Given the description of an element on the screen output the (x, y) to click on. 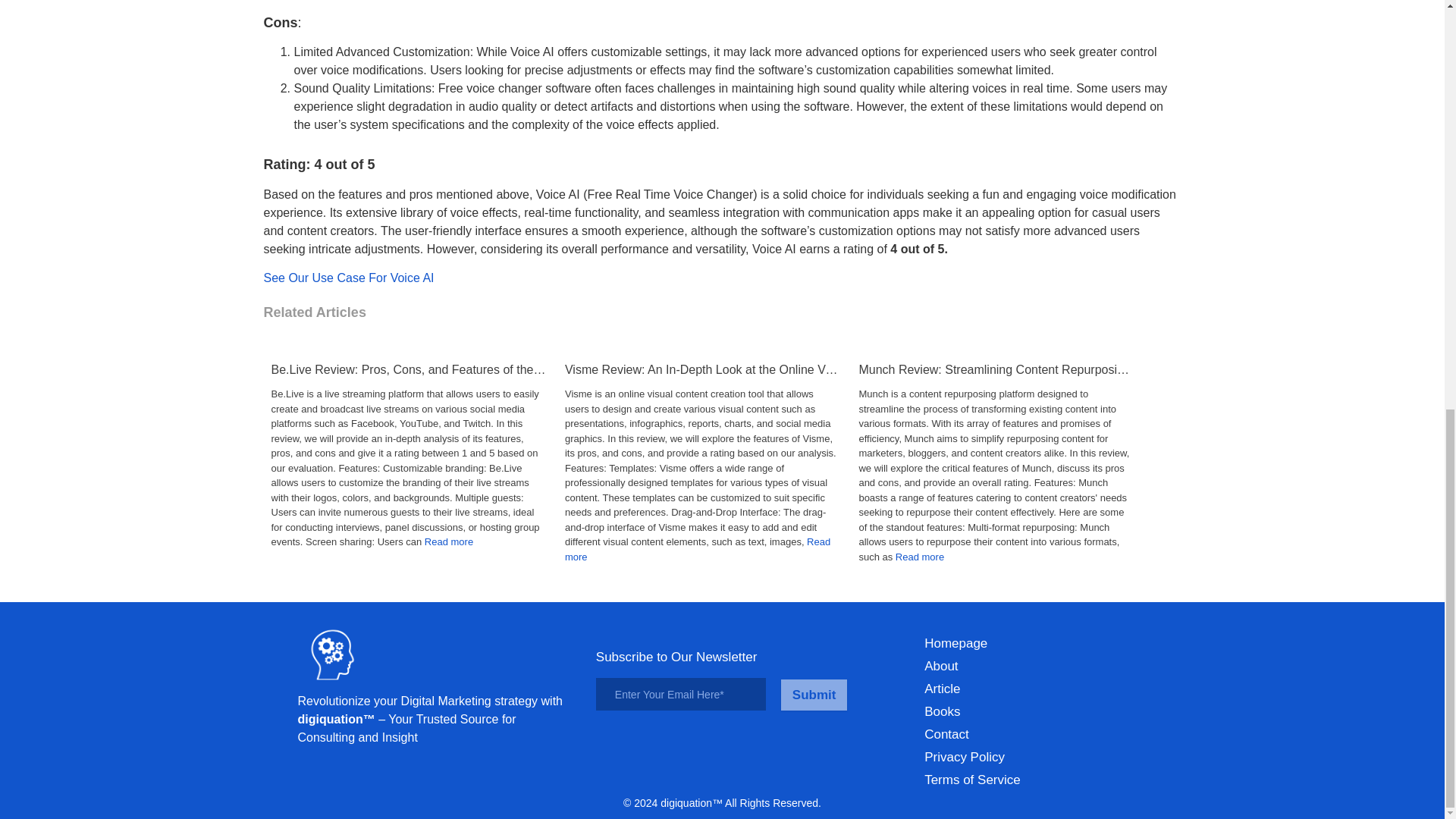
Read more (449, 541)
See Our Use Case For Voice AI (348, 277)
Read more (696, 549)
